Given the description of an element on the screen output the (x, y) to click on. 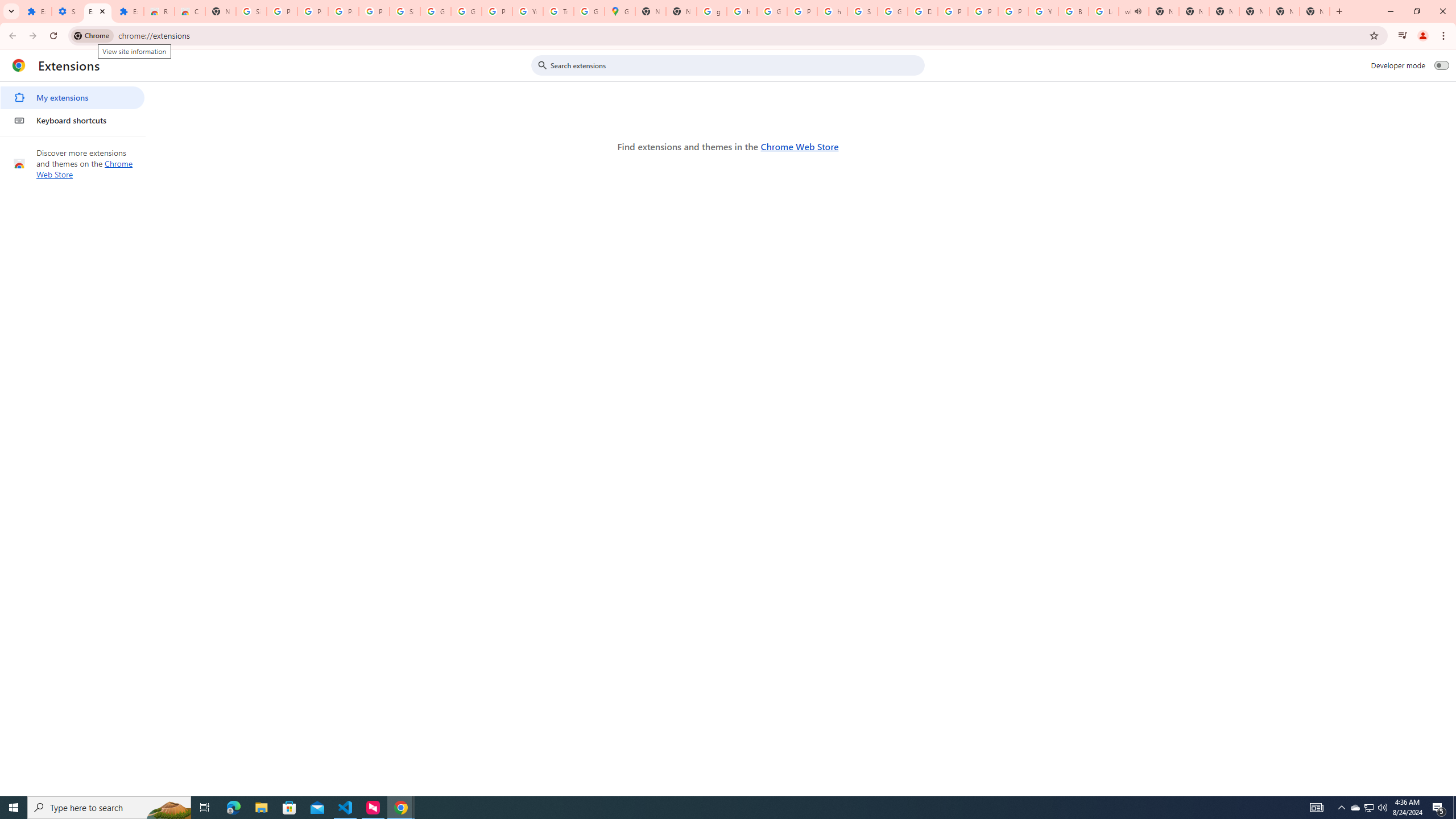
Chrome Web Store (799, 146)
Privacy Help Center - Policies Help (952, 11)
Extensions (97, 11)
AutomationID: sectionMenu (72, 106)
Extensions (36, 11)
Keyboard shortcuts (72, 119)
